Given the description of an element on the screen output the (x, y) to click on. 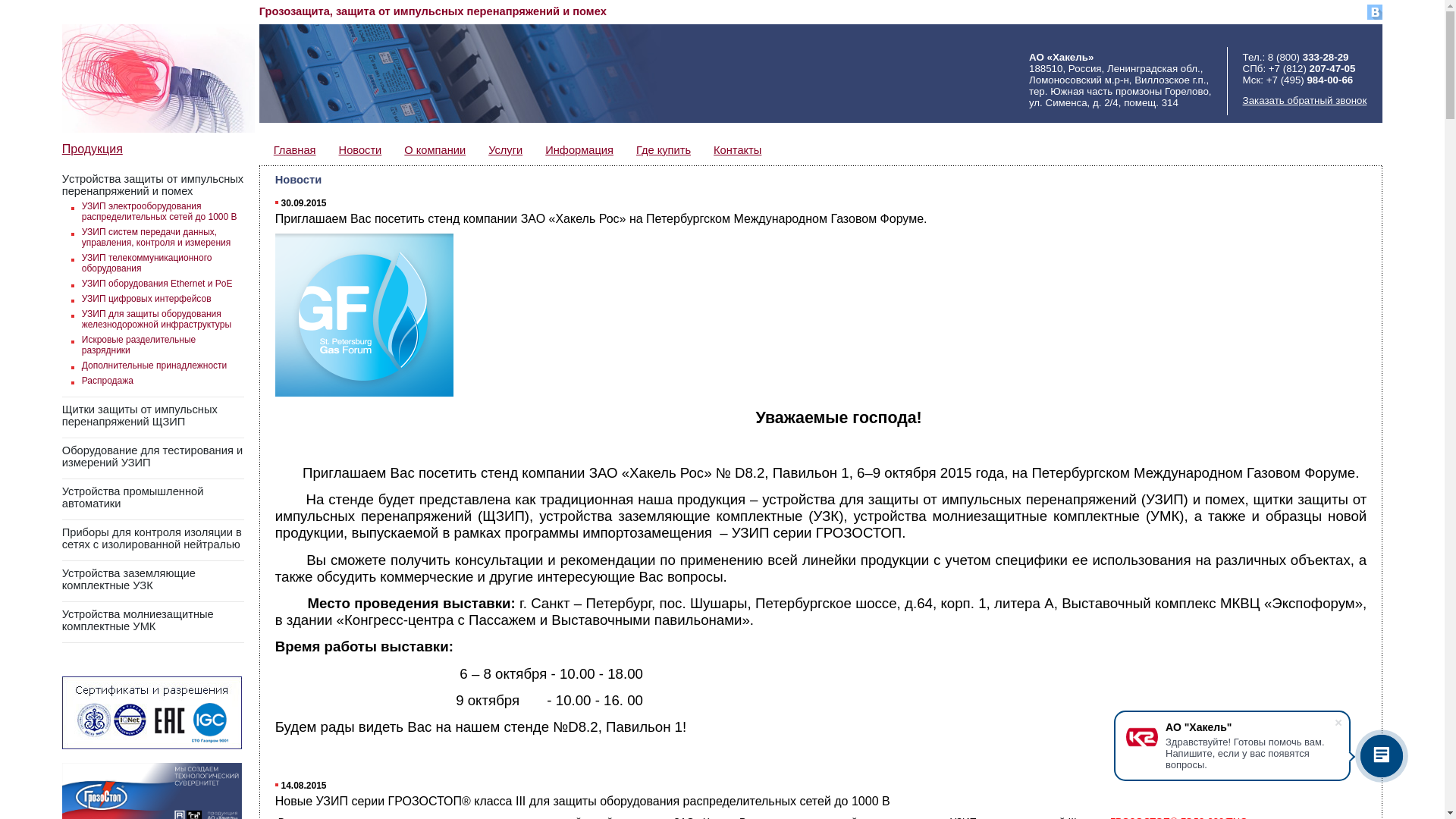
8 (800) 333-28-29 Element type: text (1308, 56)
+7 (812) 207-47-05 Element type: text (1311, 68)
+7 (495) 984-00-66 Element type: text (1309, 79)
